Given the description of an element on the screen output the (x, y) to click on. 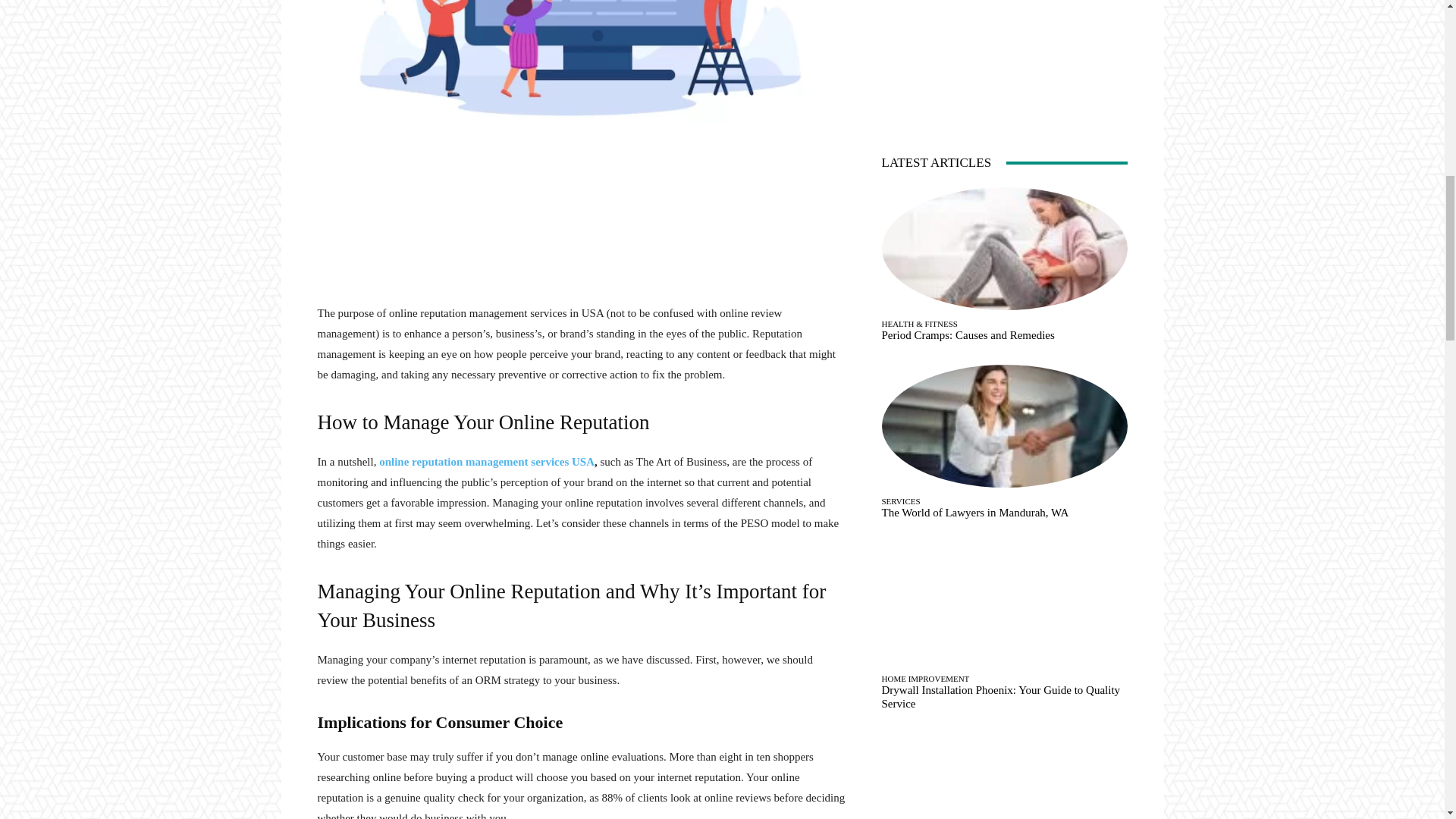
online reputation management services usa (580, 66)
